Given the description of an element on the screen output the (x, y) to click on. 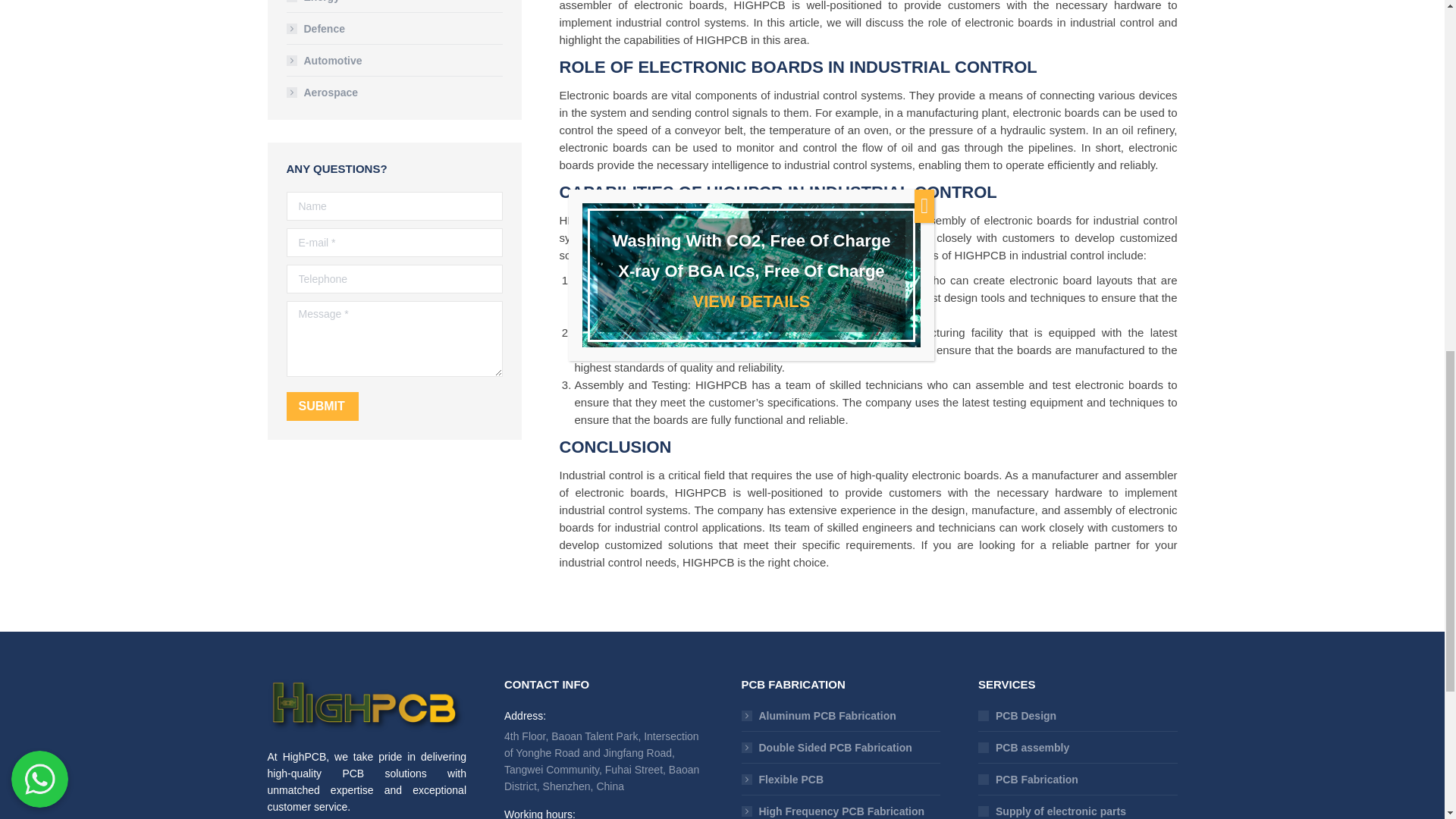
submit (403, 408)
